Given the description of an element on the screen output the (x, y) to click on. 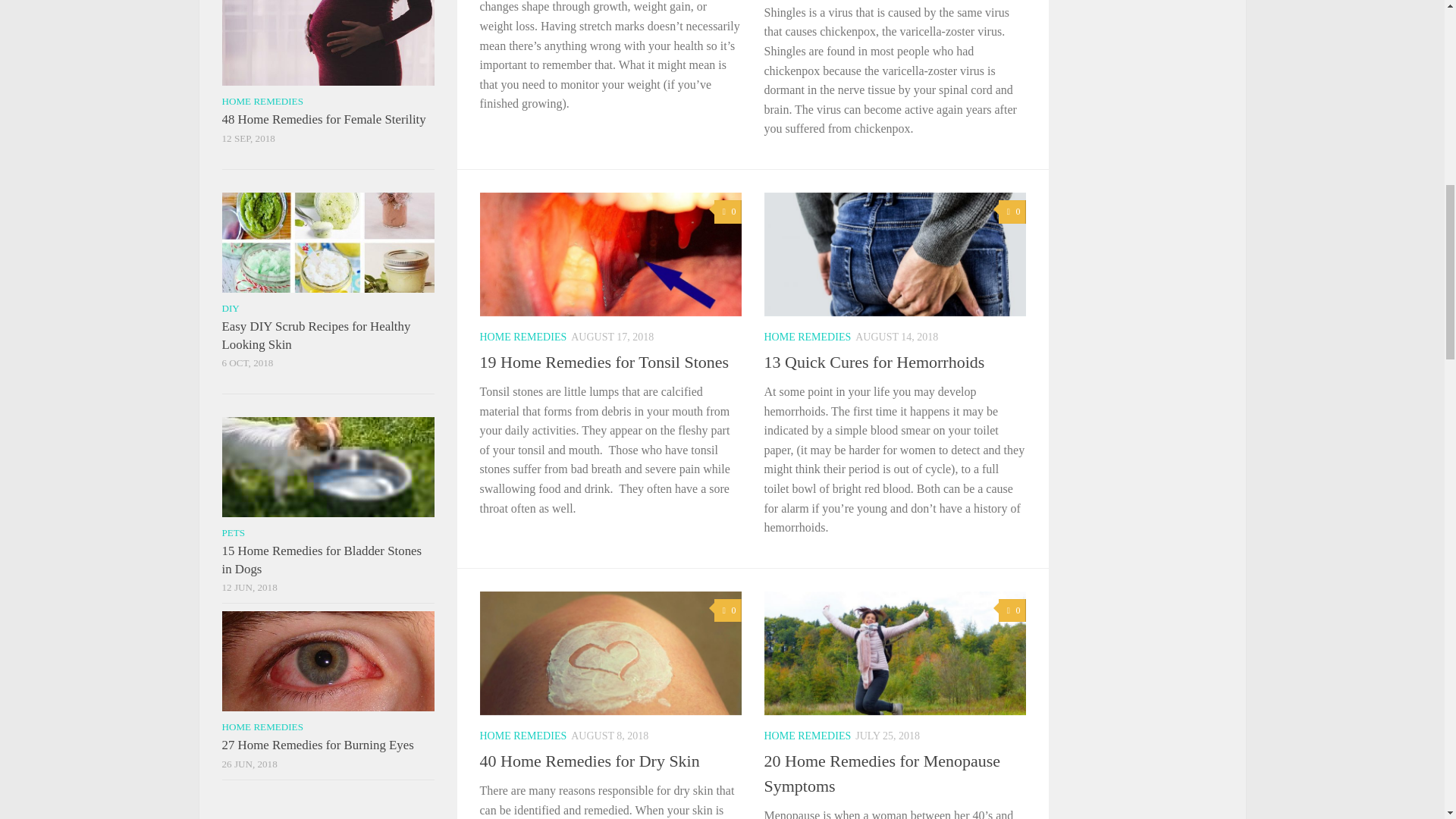
19 Home Remedies for Tonsil Stones (604, 361)
HOME REMEDIES (522, 337)
0 (727, 211)
